Given the description of an element on the screen output the (x, y) to click on. 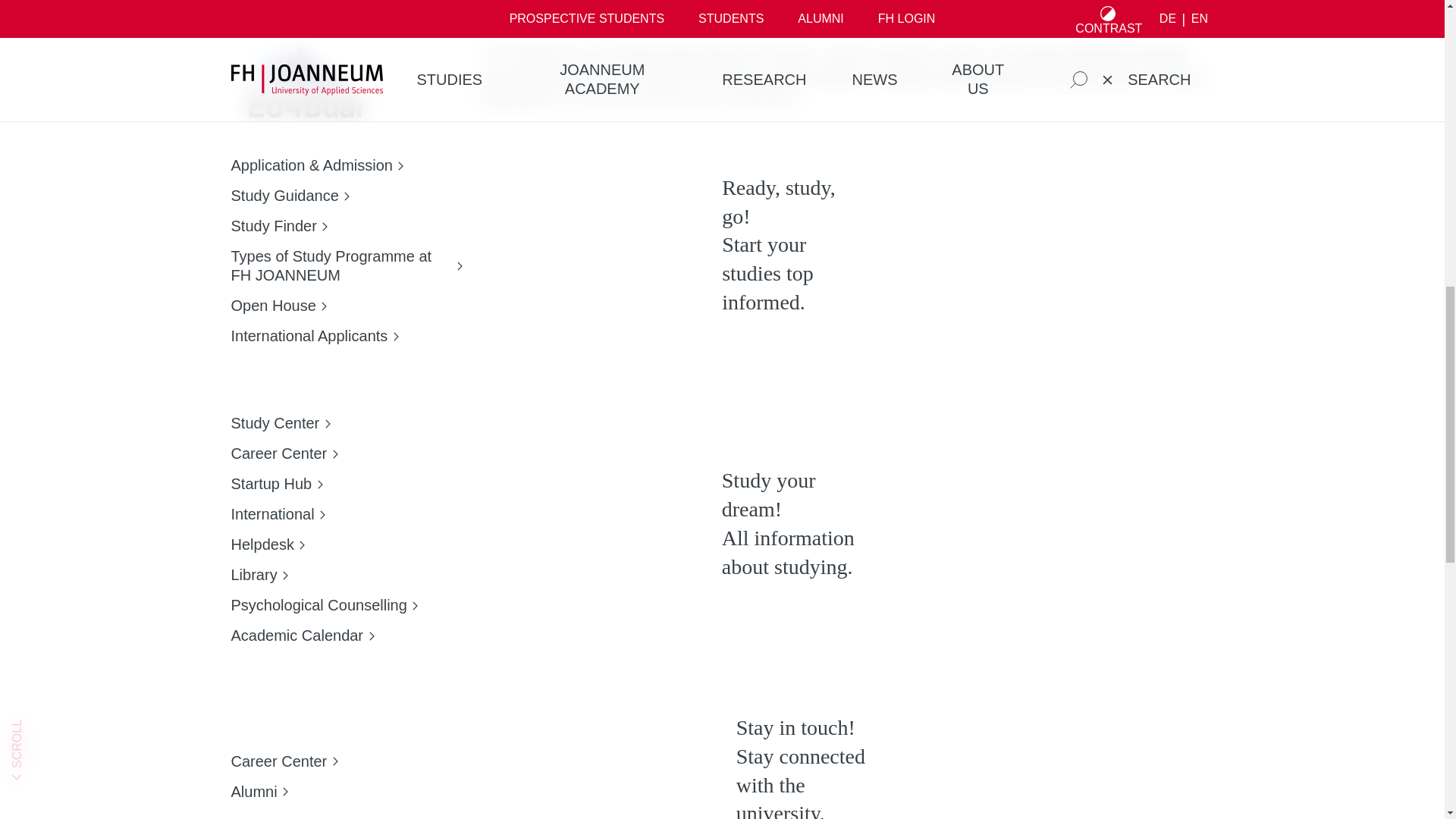
Webmail (302, 158)
Master Certificate Programmes (344, 337)
JOANNEUM Online (302, 98)
Moodle Platform (302, 128)
Staff Login (302, 189)
International (344, 367)
Locations (344, 398)
Master's Degree programmes (344, 307)
